Given the description of an element on the screen output the (x, y) to click on. 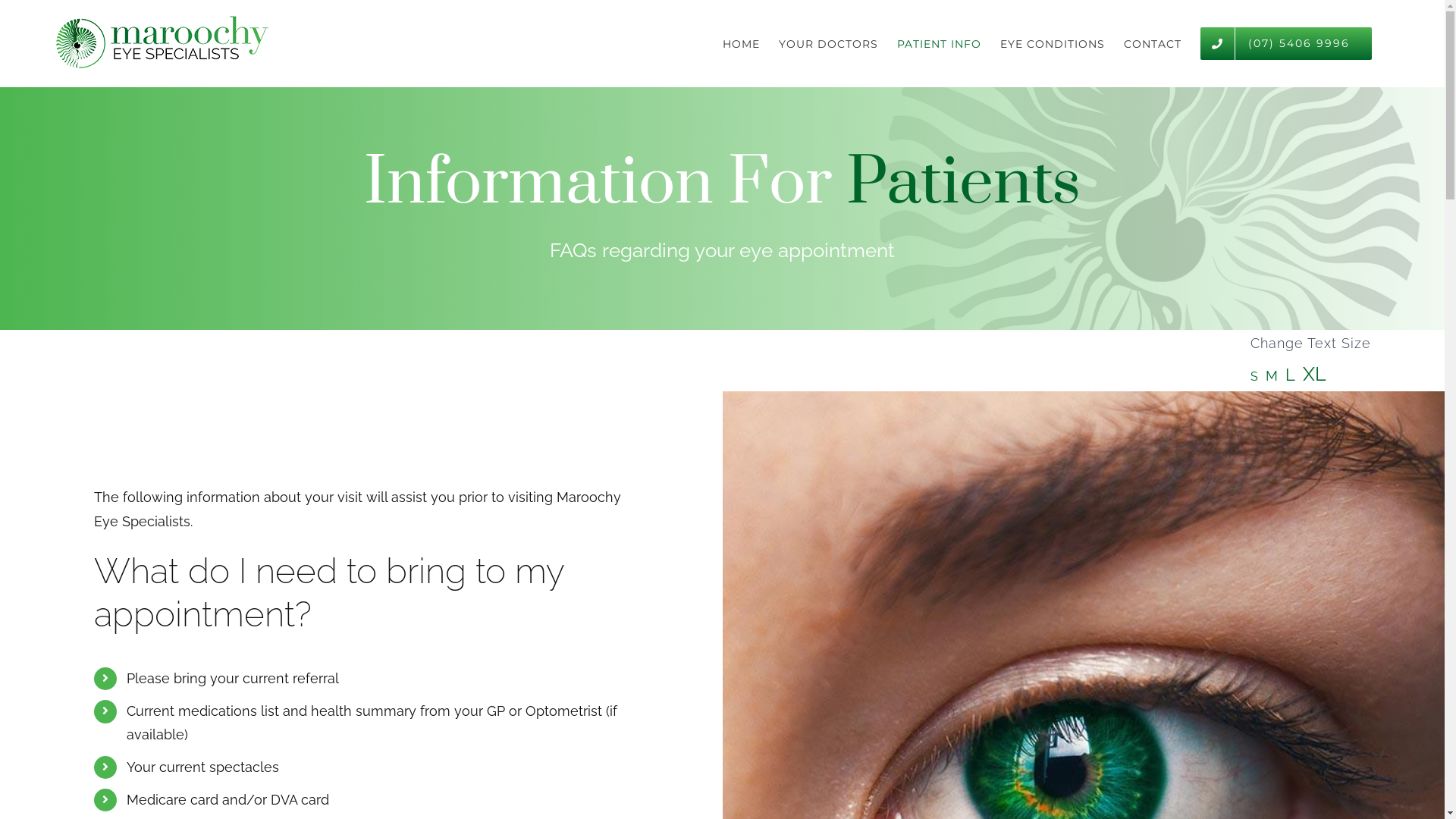
(07) 5406 9996 Element type: text (1285, 43)
PATIENT INFO Element type: text (939, 43)
EYE CONDITIONS Element type: text (1052, 43)
M Element type: text (1271, 375)
L Element type: text (1290, 374)
XL Element type: text (1314, 373)
YOUR DOCTORS Element type: text (828, 43)
S Element type: text (1254, 376)
CONTACT Element type: text (1152, 43)
HOME Element type: text (740, 43)
